Given the description of an element on the screen output the (x, y) to click on. 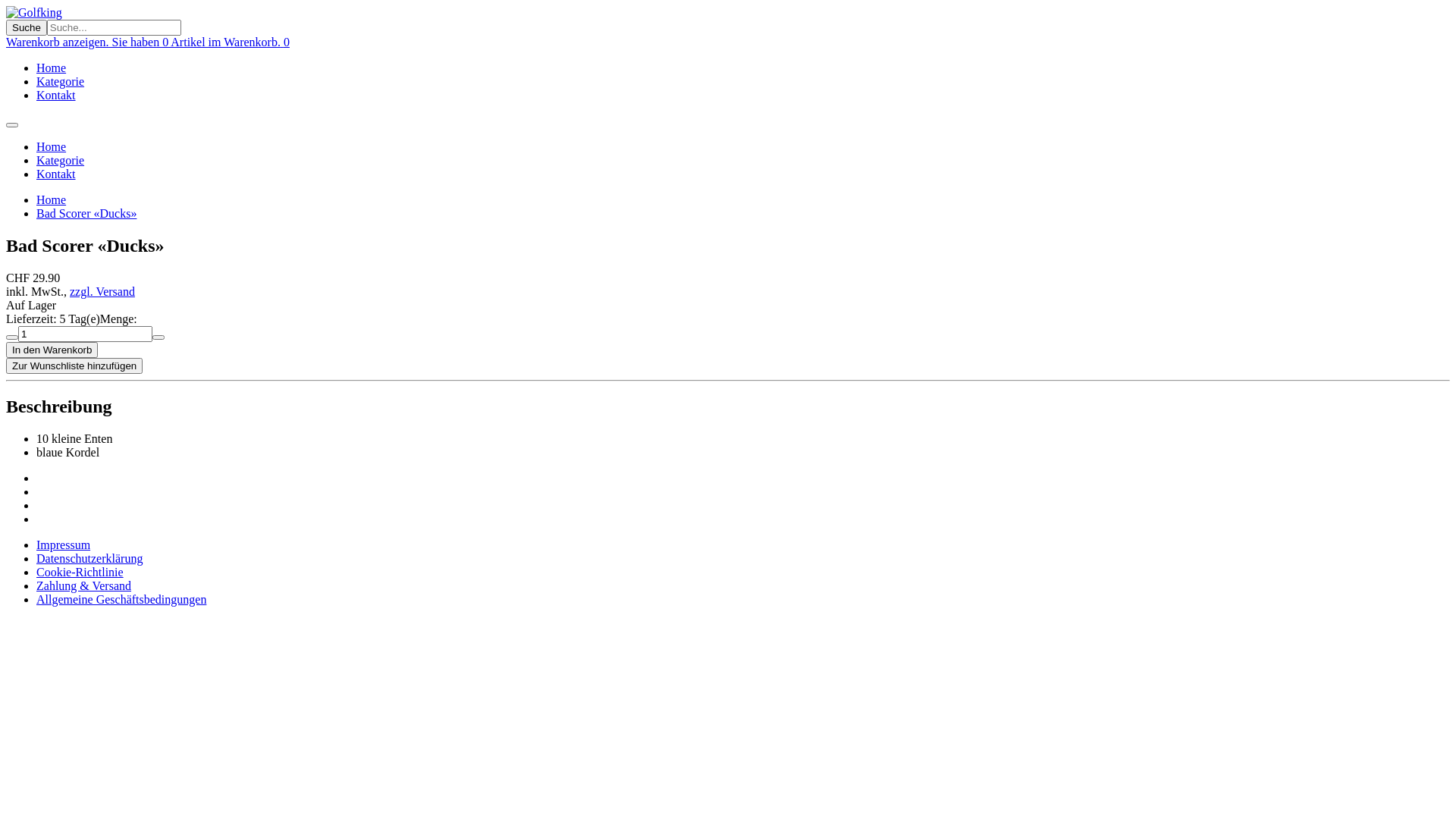
Zahlung & Versand Element type: text (83, 585)
Kategorie Element type: text (60, 159)
Kontakt Element type: text (55, 94)
Home Element type: text (50, 199)
In den Warenkorb Element type: text (51, 349)
Impressum Element type: text (63, 544)
Warenkorb anzeigen. Sie haben 0 Artikel im Warenkorb. 0 Element type: text (147, 41)
Cookie-Richtlinie Element type: text (79, 571)
Suche Element type: text (26, 27)
zzgl. Versand Element type: text (101, 291)
Kontakt Element type: text (55, 173)
Home Element type: text (50, 146)
Golfking Element type: hover (34, 12)
Kategorie Element type: text (60, 81)
Home Element type: text (50, 67)
